Given the description of an element on the screen output the (x, y) to click on. 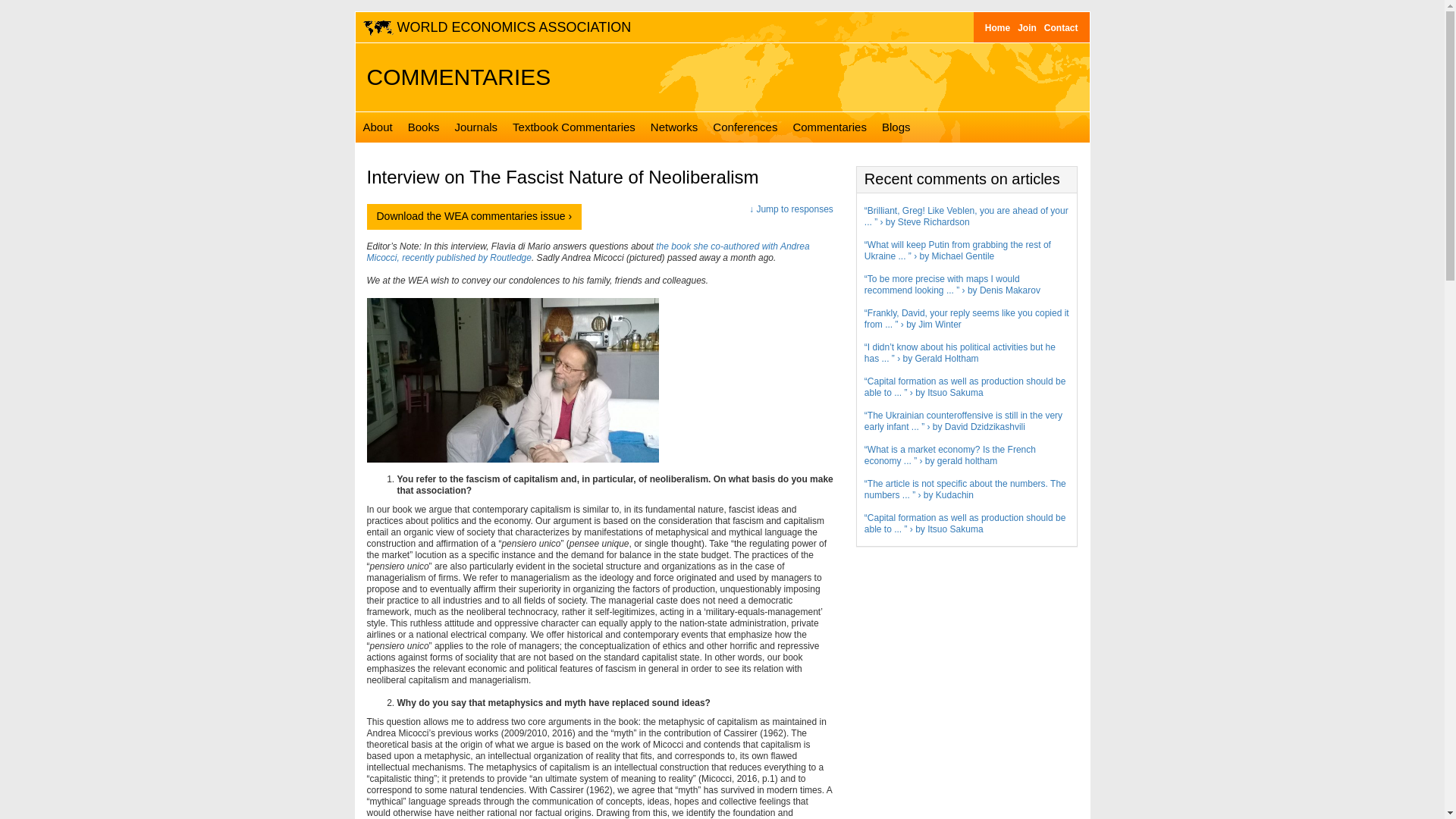
Contact (1061, 27)
Home (997, 27)
WORLD ECONOMICS ASSOCIATION (498, 27)
Blogs (896, 127)
Books (423, 127)
Journals (475, 127)
Networks (674, 127)
Download Volume 7, Issue No. 6, December 2017 (474, 216)
Textbook Commentaries (574, 127)
